Given the description of an element on the screen output the (x, y) to click on. 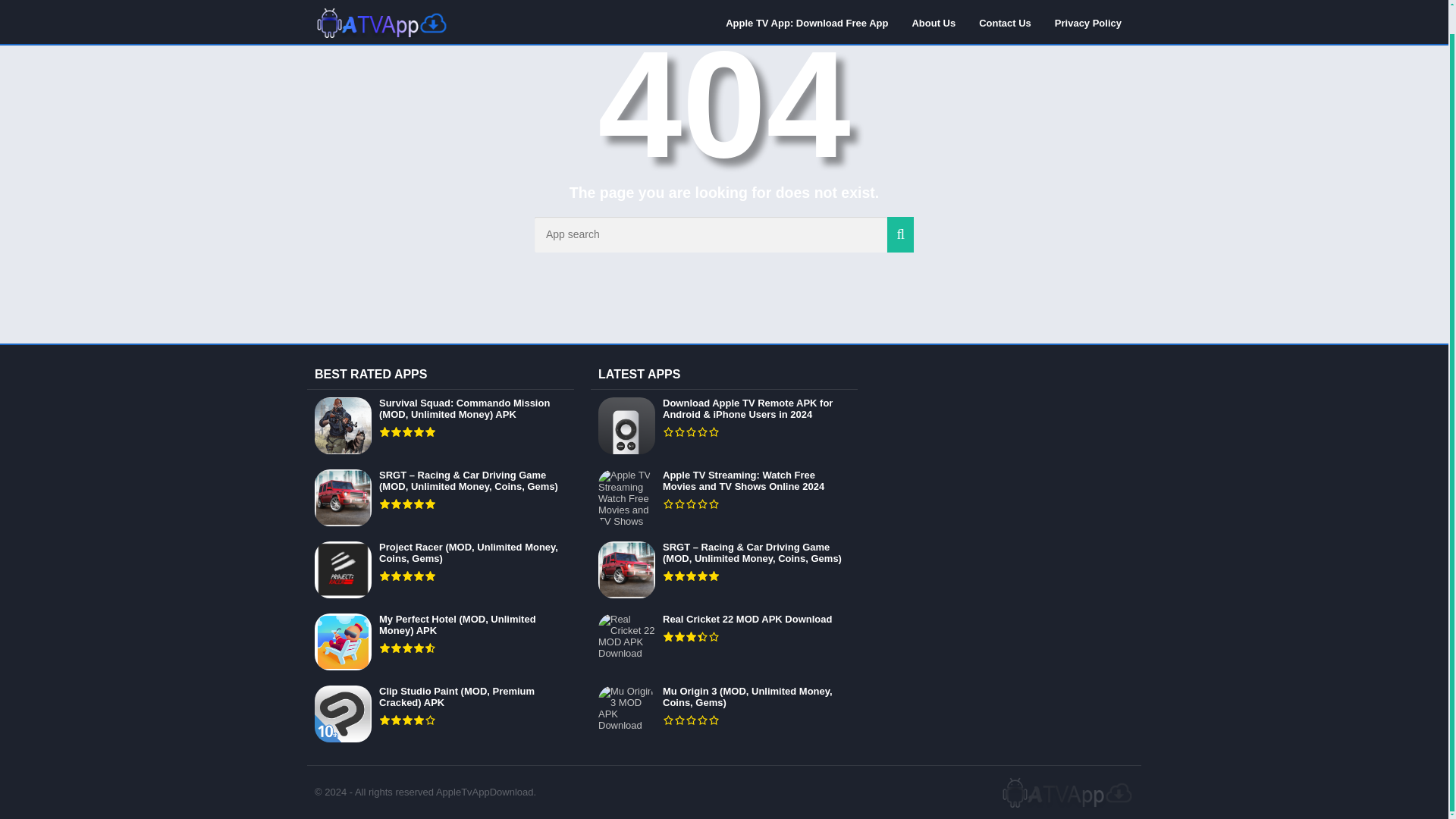
Privacy Policy (1087, 3)
About Us (932, 3)
Apple TV App: Download Free App (806, 3)
Contact Us (1005, 3)
Real Cricket 22 MOD APK Download (724, 642)
